Given the description of an element on the screen output the (x, y) to click on. 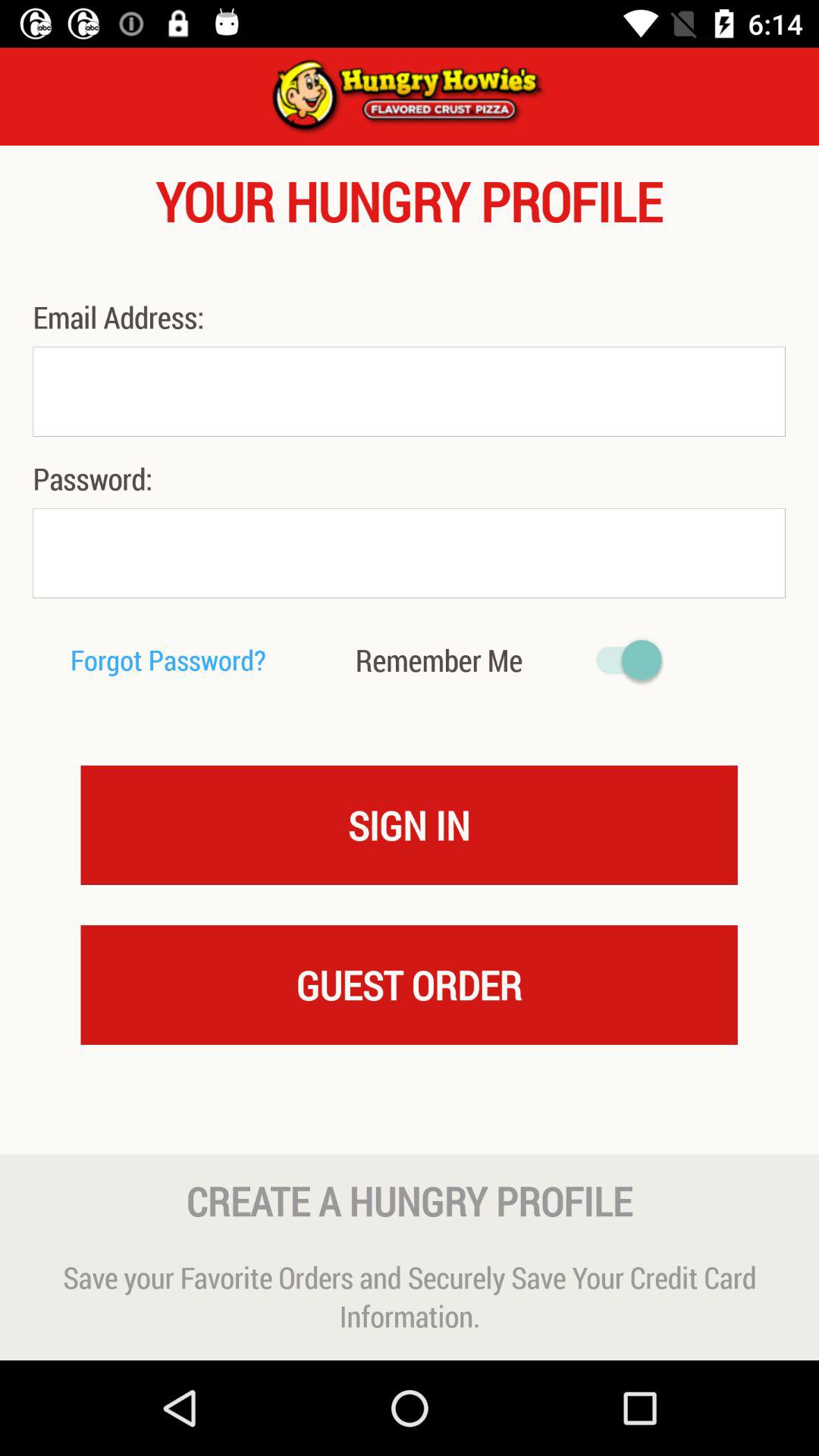
select item below the sign in icon (409, 984)
